Given the description of an element on the screen output the (x, y) to click on. 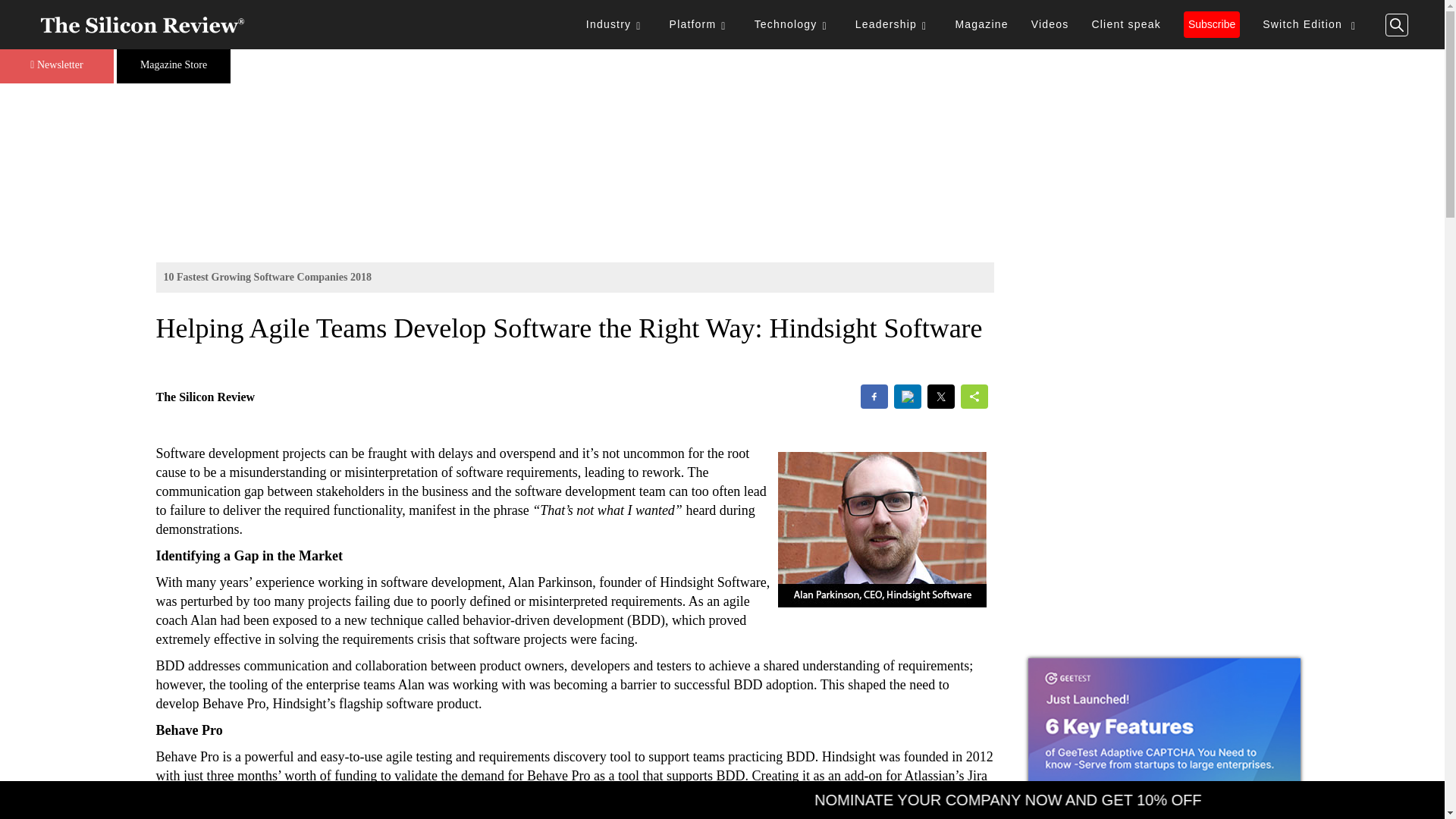
Advertisement (1163, 547)
Advertisement (721, 151)
Advertisement (1163, 330)
Industry (616, 24)
Platform (700, 24)
